Given the description of an element on the screen output the (x, y) to click on. 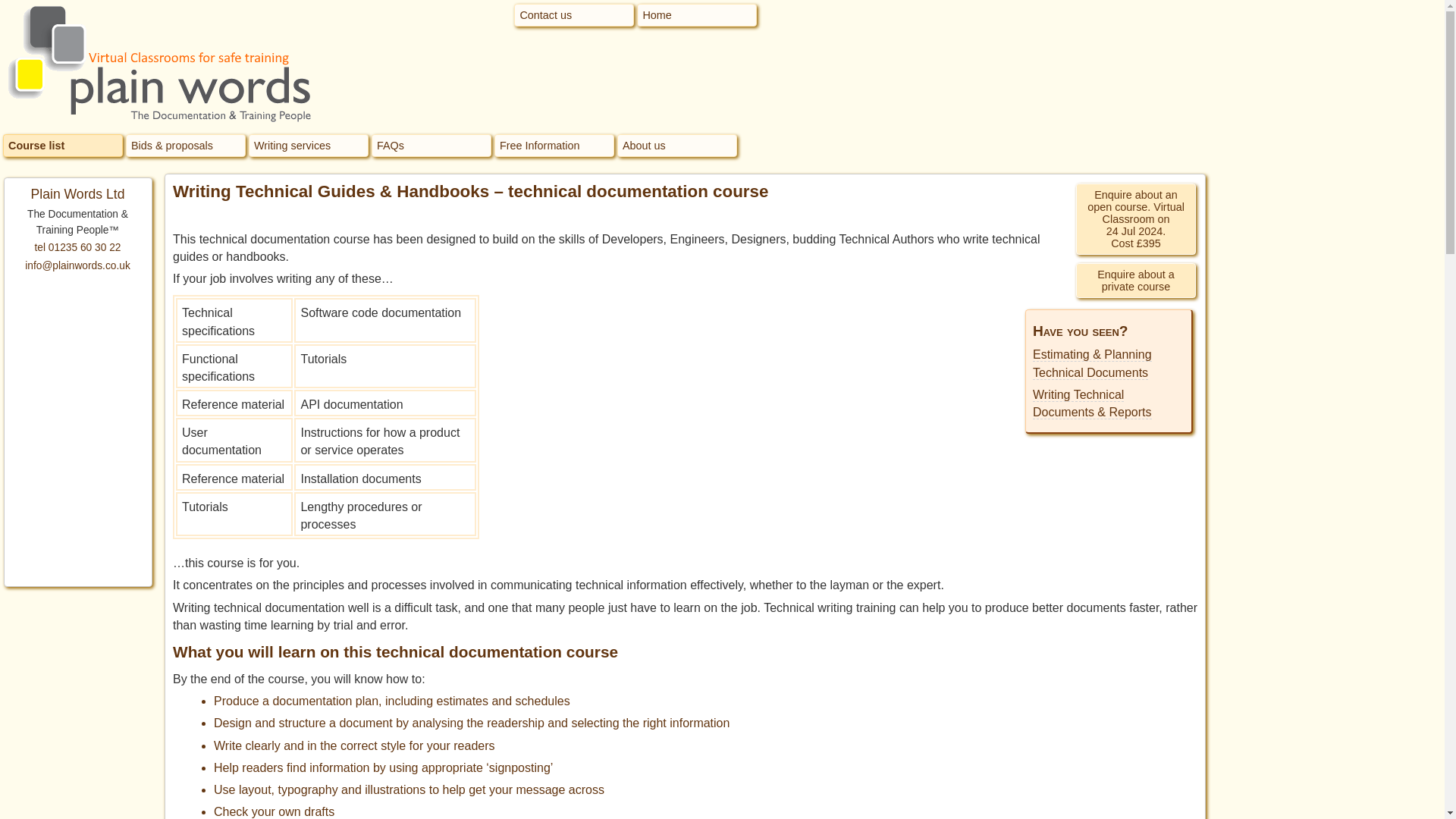
Plain Words - the Documentation and Training People (158, 63)
writing and documentation skills training courses (62, 145)
Home (697, 15)
about Plain Words (676, 145)
Enquire about a private course (1135, 280)
Plain Words Home Page (697, 15)
Course list (62, 145)
tel 01235 60 30 22 (77, 247)
About us (676, 145)
book a place on a public course on this subject (1135, 218)
frequently asked questions about Plain Words training (431, 145)
Contact us (573, 15)
Writing services (308, 145)
